Given the description of an element on the screen output the (x, y) to click on. 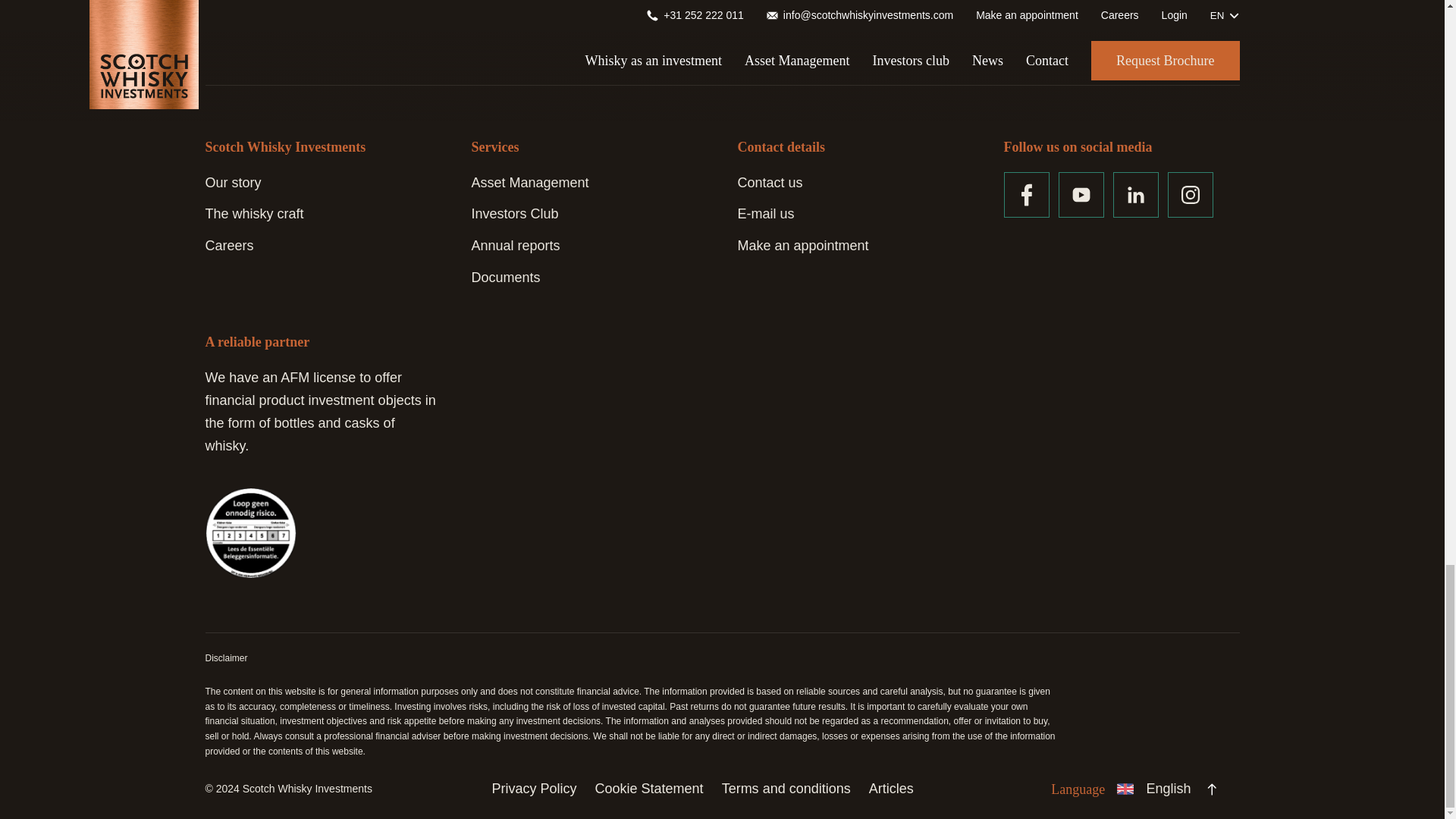
Investors Club (515, 213)
Cookie Statement (649, 788)
Privacy Policy (534, 788)
Asset Management (530, 182)
Contact us (769, 182)
Documents (505, 277)
Annual reports (515, 245)
The whisky craft (253, 213)
E-mail us (764, 213)
Our story (232, 182)
Make an appointment (801, 245)
Careers (229, 245)
